Given the description of an element on the screen output the (x, y) to click on. 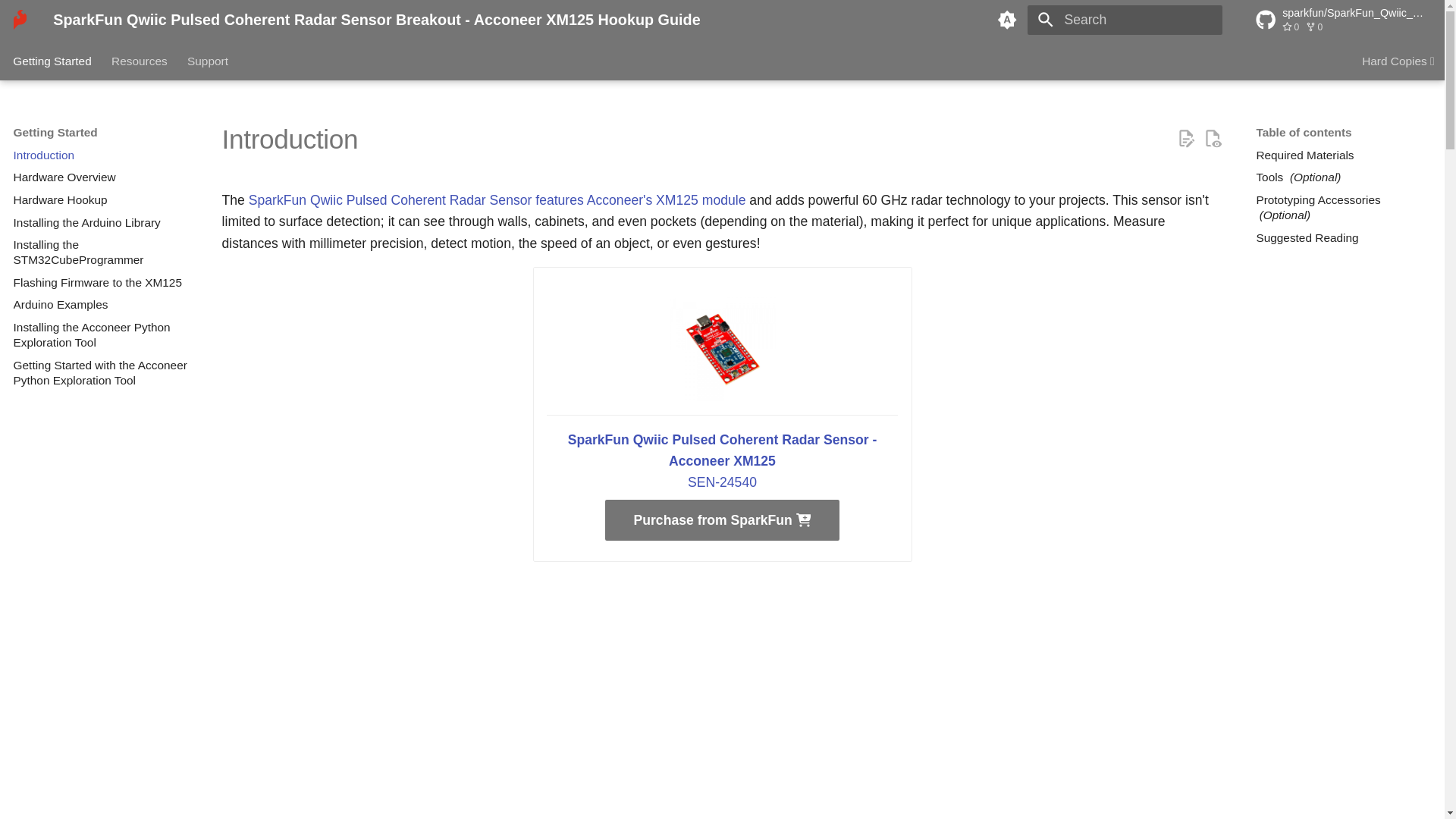
Introduction (101, 155)
Resources (139, 60)
Support (207, 60)
Getting Started (53, 60)
Hardware Overview (101, 177)
Installing the Acconeer Python Exploration Tool (101, 335)
Flashing Firmware to the XM125 (101, 282)
Required Materials (1343, 155)
Installing the Arduino Library (101, 222)
Getting Started with the Acconeer Python Exploration Tool (101, 372)
Suggested Reading (1343, 237)
Hardware Hookup (101, 200)
Switch to dark mode (1008, 19)
